Given the description of an element on the screen output the (x, y) to click on. 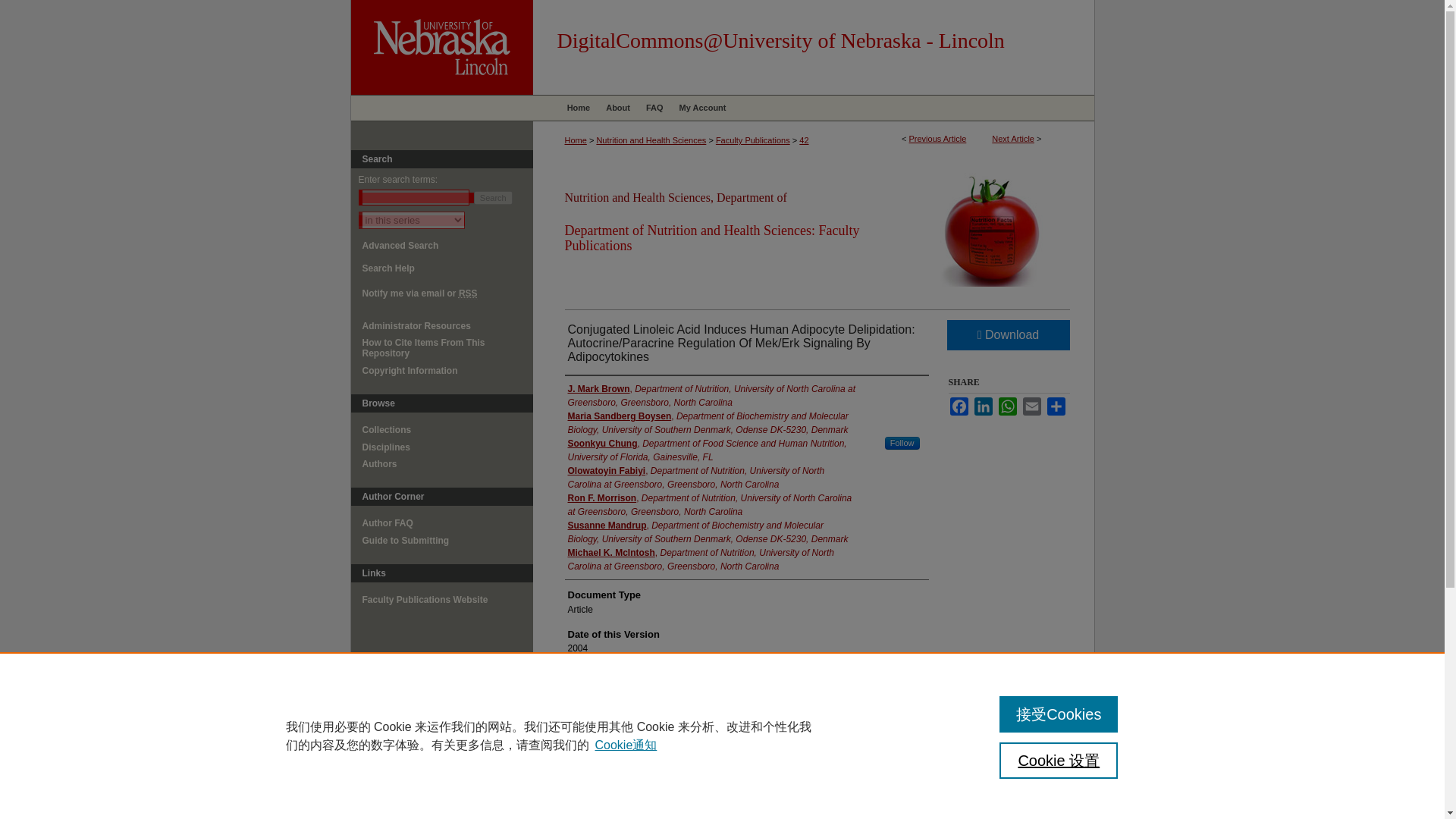
Search (493, 197)
Facebook (958, 406)
Email or RSS Notifications (447, 293)
Browse by Collections (447, 429)
About (617, 107)
Previous Article (937, 138)
About (617, 107)
Faculty Publications (753, 139)
Follow Soonkyu Chung (902, 442)
Follow (902, 442)
Next Article (1012, 138)
Search (493, 197)
LinkedIn (982, 406)
